Given the description of an element on the screen output the (x, y) to click on. 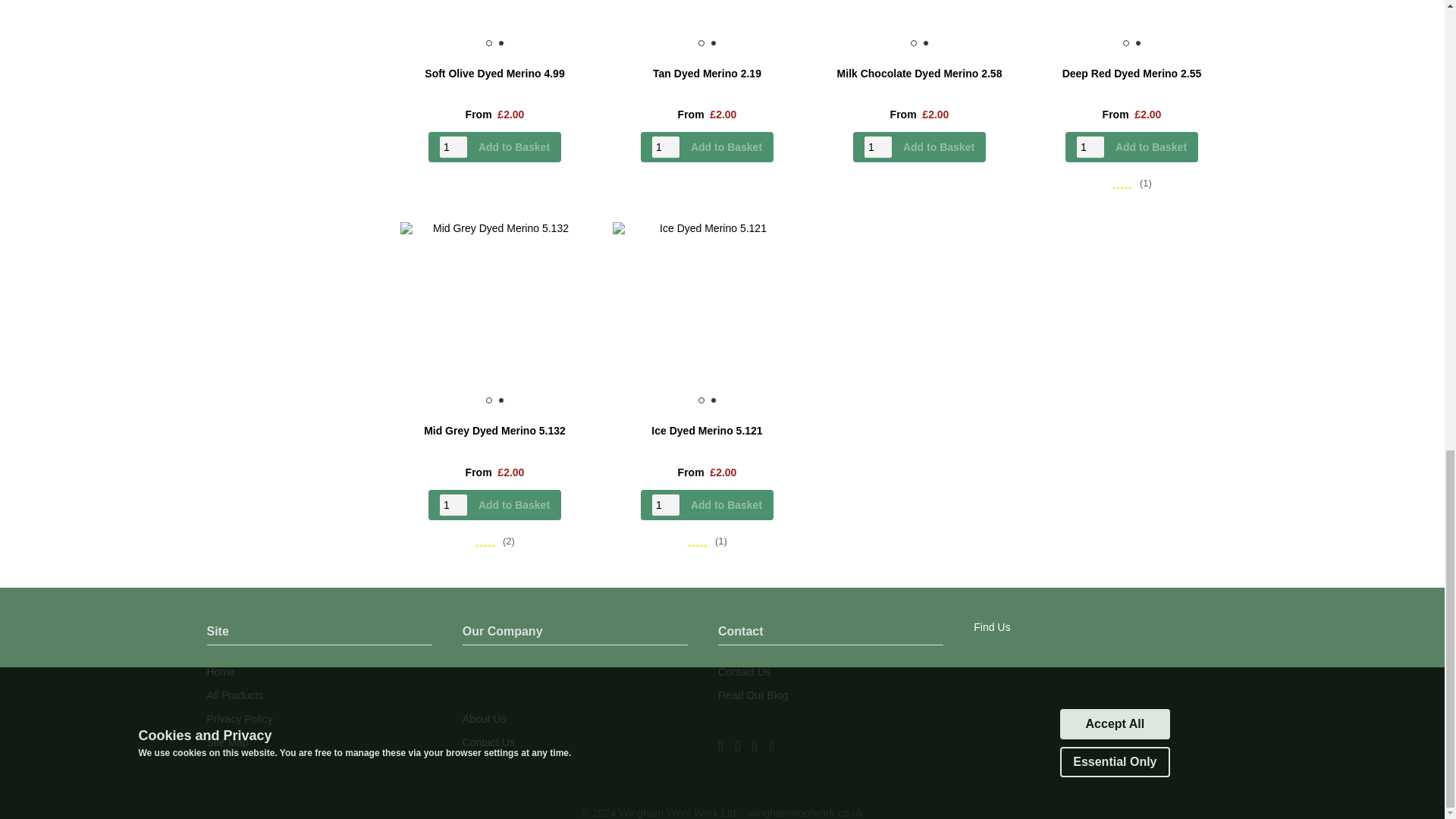
1 (1090, 147)
1 (665, 504)
1 (453, 147)
1 (877, 147)
1 (665, 147)
1 (453, 504)
